Given the description of an element on the screen output the (x, y) to click on. 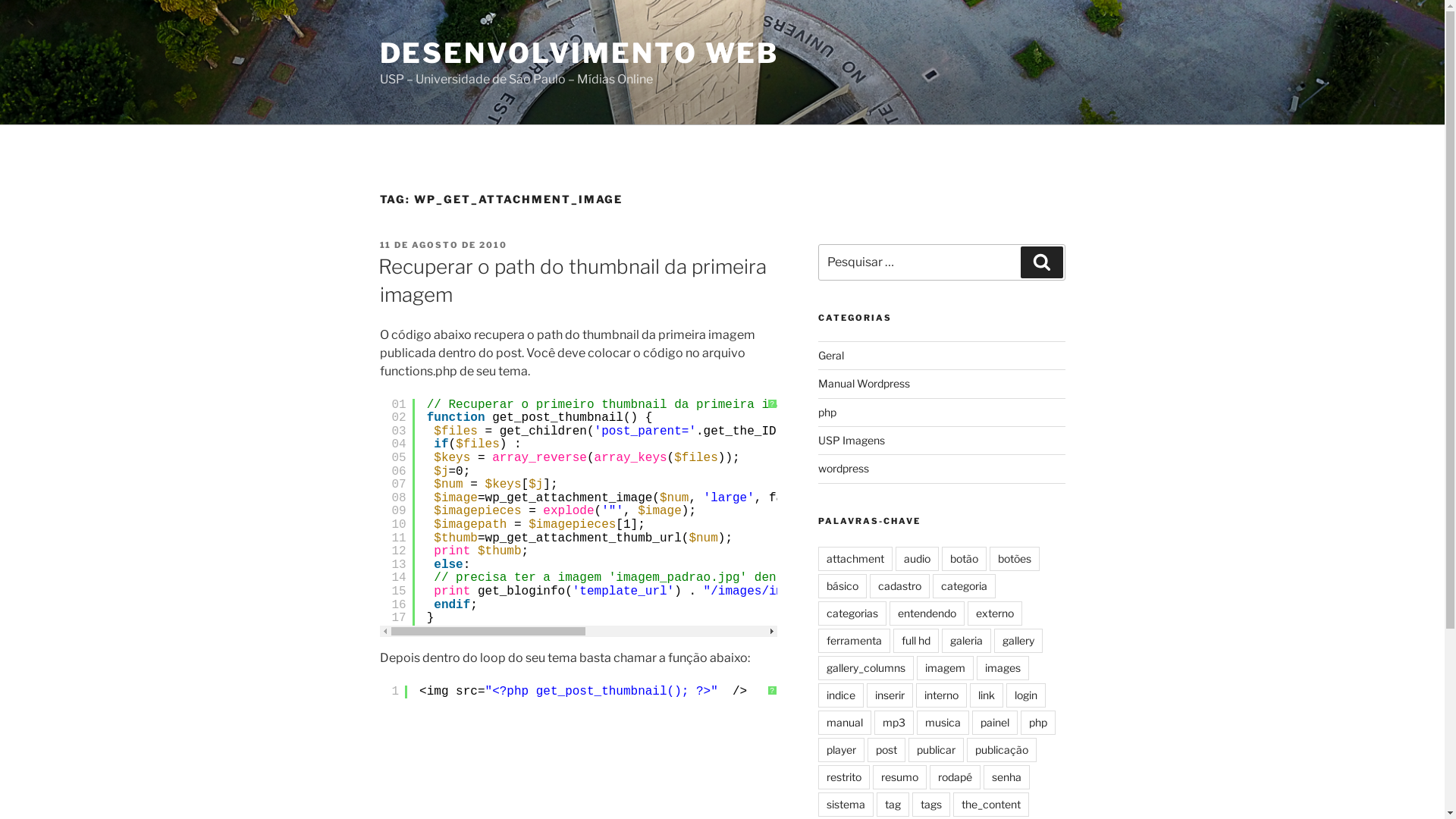
senha Element type: text (1006, 777)
wordpress Element type: text (843, 467)
11 DE AGOSTO DE 2010 Element type: text (443, 244)
login Element type: text (1025, 695)
gallery_columns Element type: text (865, 667)
cadastro Element type: text (899, 586)
inserir Element type: text (889, 695)
attachment Element type: text (855, 558)
musica Element type: text (942, 722)
php Element type: text (1037, 722)
resumo Element type: text (899, 777)
sistema Element type: text (845, 804)
mp3 Element type: text (893, 722)
? Element type: text (772, 403)
the_content Element type: text (991, 804)
categoria Element type: text (963, 586)
Manual Wordpress Element type: text (864, 382)
images Element type: text (1002, 667)
link Element type: text (986, 695)
php Element type: text (827, 411)
USP Imagens Element type: text (851, 439)
galeria Element type: text (966, 640)
tags Element type: text (931, 804)
publicar Element type: text (935, 749)
player Element type: text (841, 749)
restrito Element type: text (843, 777)
externo Element type: text (994, 613)
imagem Element type: text (944, 667)
Geral Element type: text (831, 354)
painel Element type: text (994, 722)
interno Element type: text (941, 695)
ferramenta Element type: text (854, 640)
audio Element type: text (916, 558)
manual Element type: text (844, 722)
categorias Element type: text (852, 613)
DESENVOLVIMENTO WEB Element type: text (578, 52)
entendendo Element type: text (926, 613)
? Element type: text (772, 690)
tag Element type: text (892, 804)
gallery Element type: text (1018, 640)
Recuperar o path do thumbnail da primeira imagem Element type: text (571, 279)
Pesquisar Element type: text (1041, 262)
indice Element type: text (840, 695)
post Element type: text (886, 749)
full hd Element type: text (915, 640)
